Given the description of an element on the screen output the (x, y) to click on. 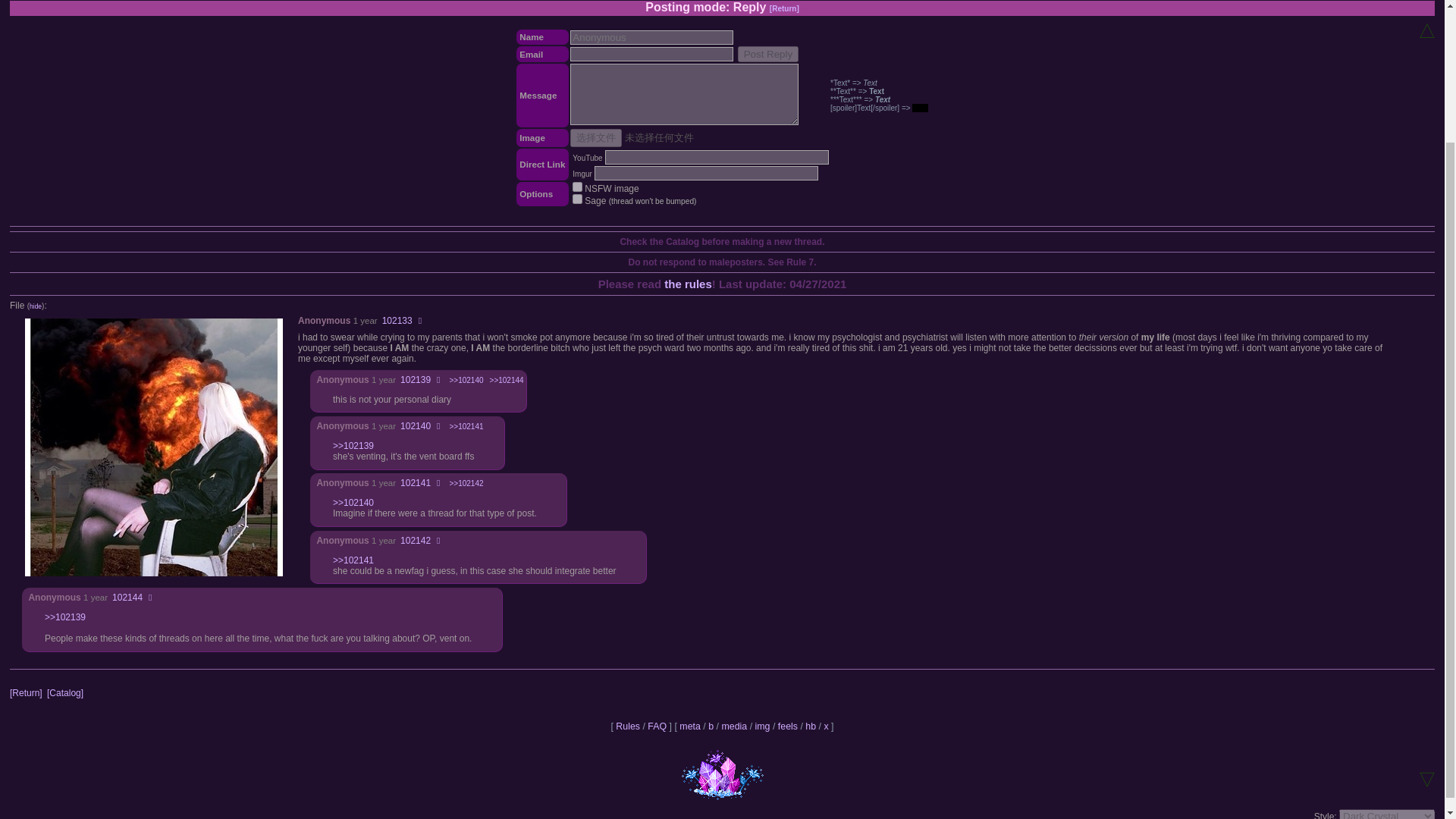
1 year (365, 320)
102139 (415, 379)
Post Reply (767, 53)
102133 (396, 320)
102142 (415, 540)
hide (35, 306)
1 year (383, 482)
1 year (94, 596)
the rules (687, 283)
Only use this field with good reason (651, 37)
